Given the description of an element on the screen output the (x, y) to click on. 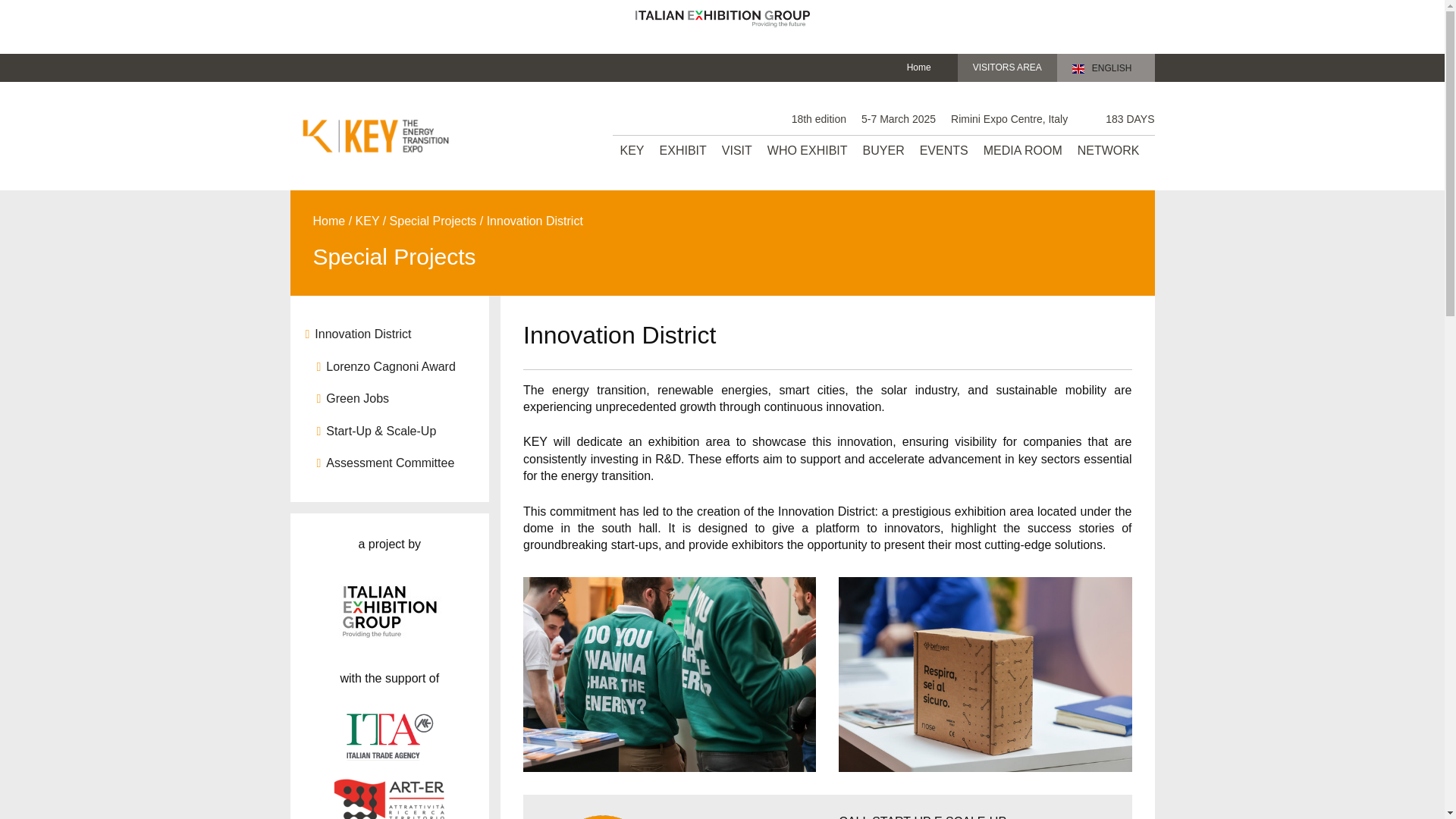
KEY (632, 150)
Exhibit (683, 150)
VISIT (737, 150)
EXHIBIT (683, 150)
KEY (632, 150)
Home (919, 67)
